Given the description of an element on the screen output the (x, y) to click on. 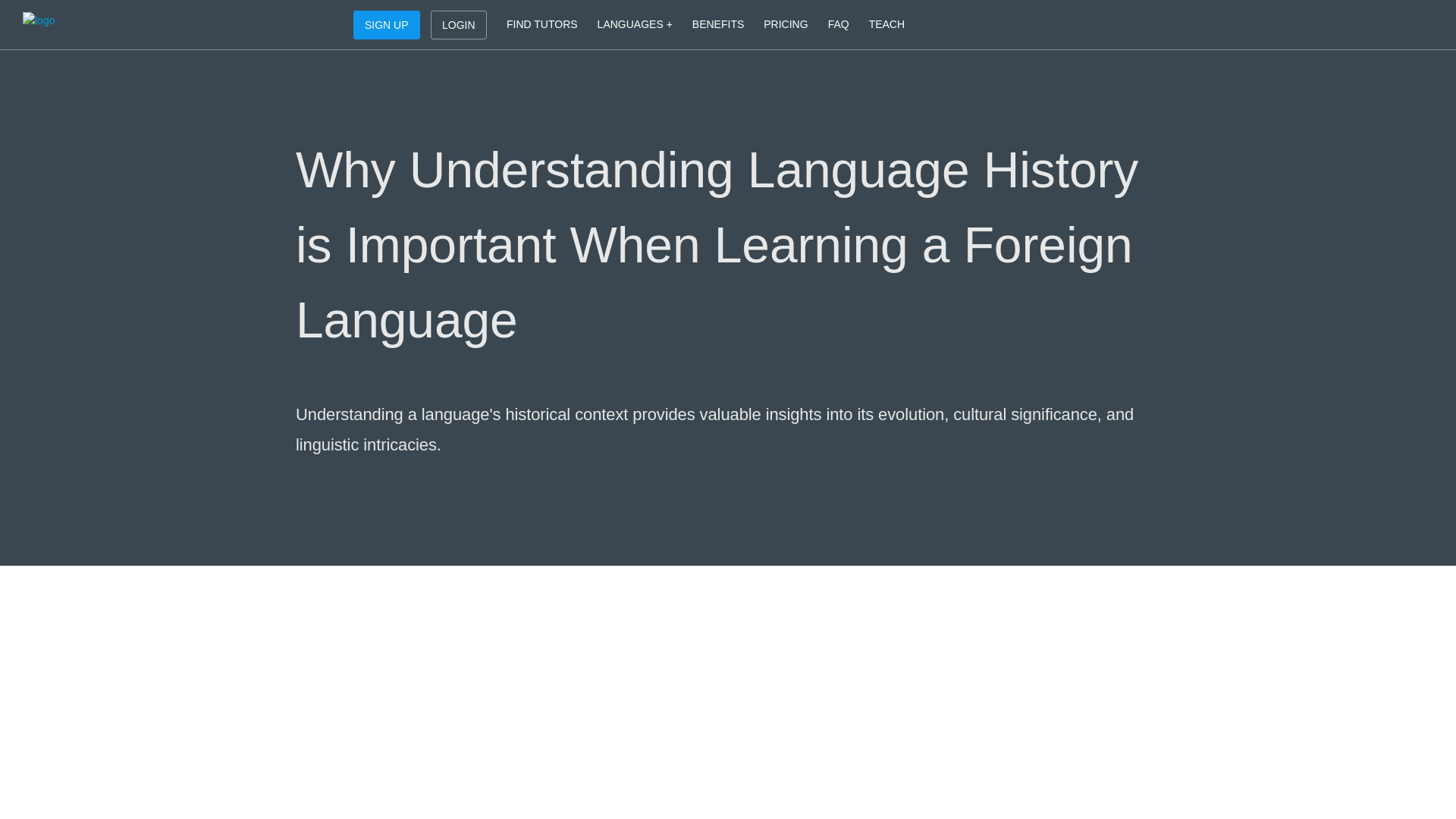
Home (93, 23)
SIGN UP (386, 24)
LOGIN (458, 24)
FIND TUTORS (542, 24)
